Given the description of an element on the screen output the (x, y) to click on. 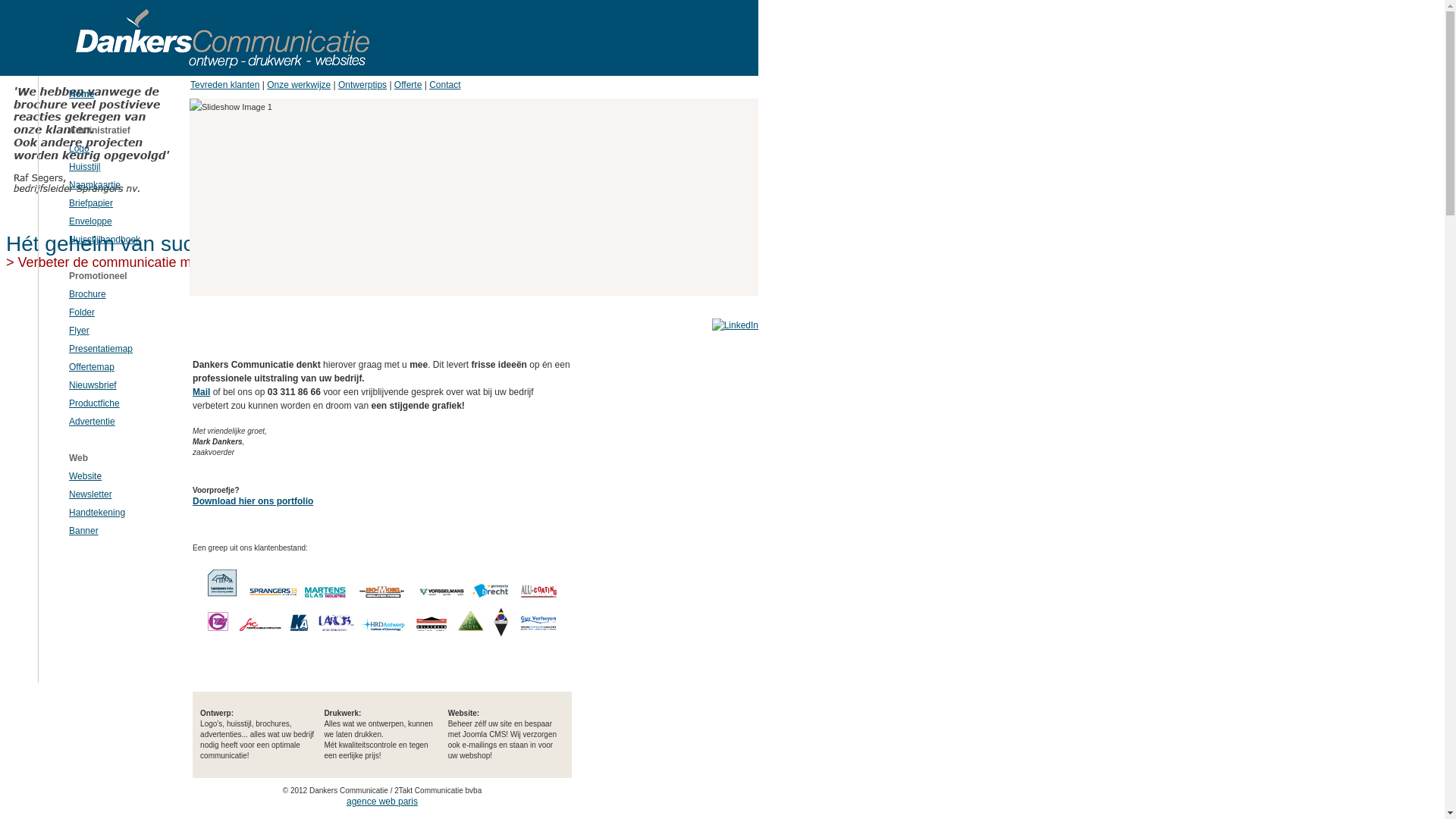
Offertemap Element type: text (91, 366)
Contact Element type: text (444, 84)
Huisstijl Element type: text (84, 166)
Enveloppe Element type: text (90, 221)
agence web paris Element type: text (381, 801)
Presentatiemap Element type: text (100, 348)
Download hier ons portfolio Element type: text (252, 500)
Ontwerptips Element type: text (362, 84)
Offerte Element type: text (407, 84)
Briefpapier Element type: text (90, 202)
Folder Element type: text (81, 312)
Banner Element type: text (83, 530)
Nieuwsbrief Element type: text (92, 384)
Huisstijlhandboek Element type: text (104, 239)
Onze werkwijze Element type: text (298, 84)
Productfiche Element type: text (94, 403)
Handtekening Element type: text (97, 512)
Newsletter Element type: text (90, 494)
Advertentie Element type: text (92, 421)
Website Element type: text (85, 475)
Naamkaartje Element type: text (94, 184)
Brochure Element type: text (87, 293)
Home Element type: text (81, 93)
Logo Element type: text (79, 148)
Mail Element type: text (201, 391)
Flyer Element type: text (79, 330)
Tevreden klanten Element type: text (224, 84)
